Given the description of an element on the screen output the (x, y) to click on. 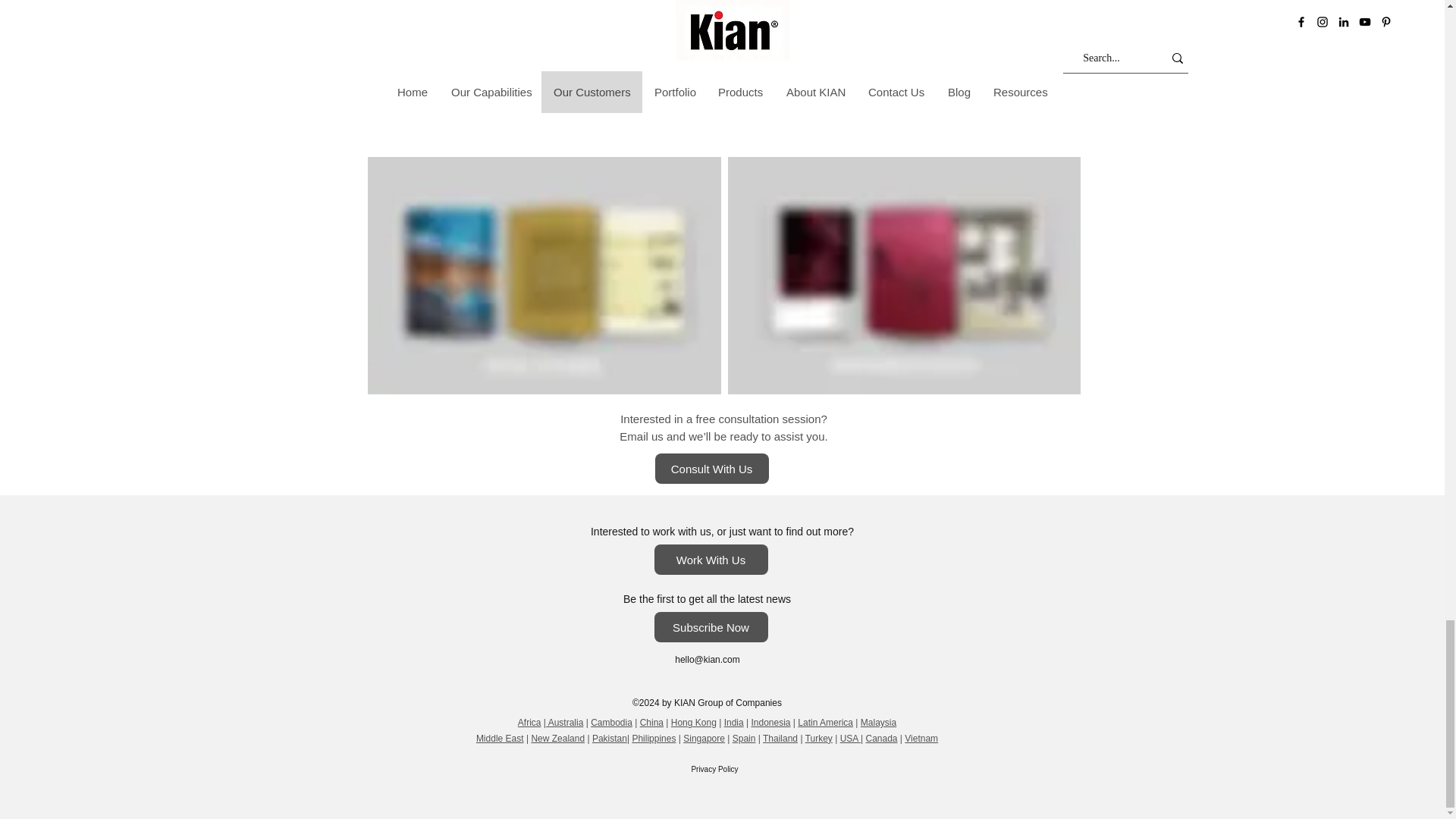
MockUp-KDS-Ctlg.jpg (904, 275)
